Given the description of an element on the screen output the (x, y) to click on. 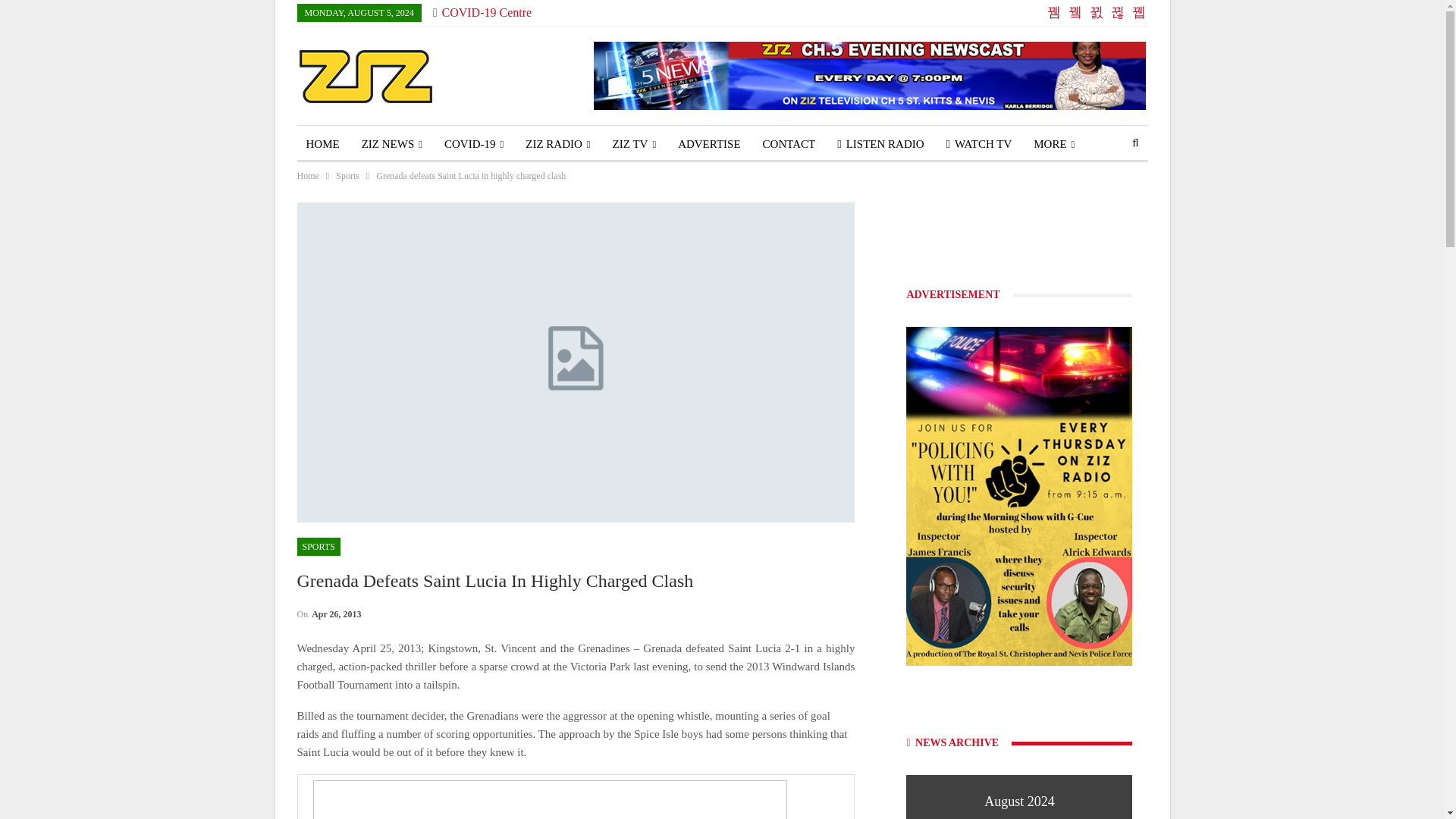
HOME (323, 144)
ZIZ NEWS (391, 144)
COVID-19 Centre (481, 11)
ZIZ RADIO (557, 144)
COVID-19 (473, 144)
